Given the description of an element on the screen output the (x, y) to click on. 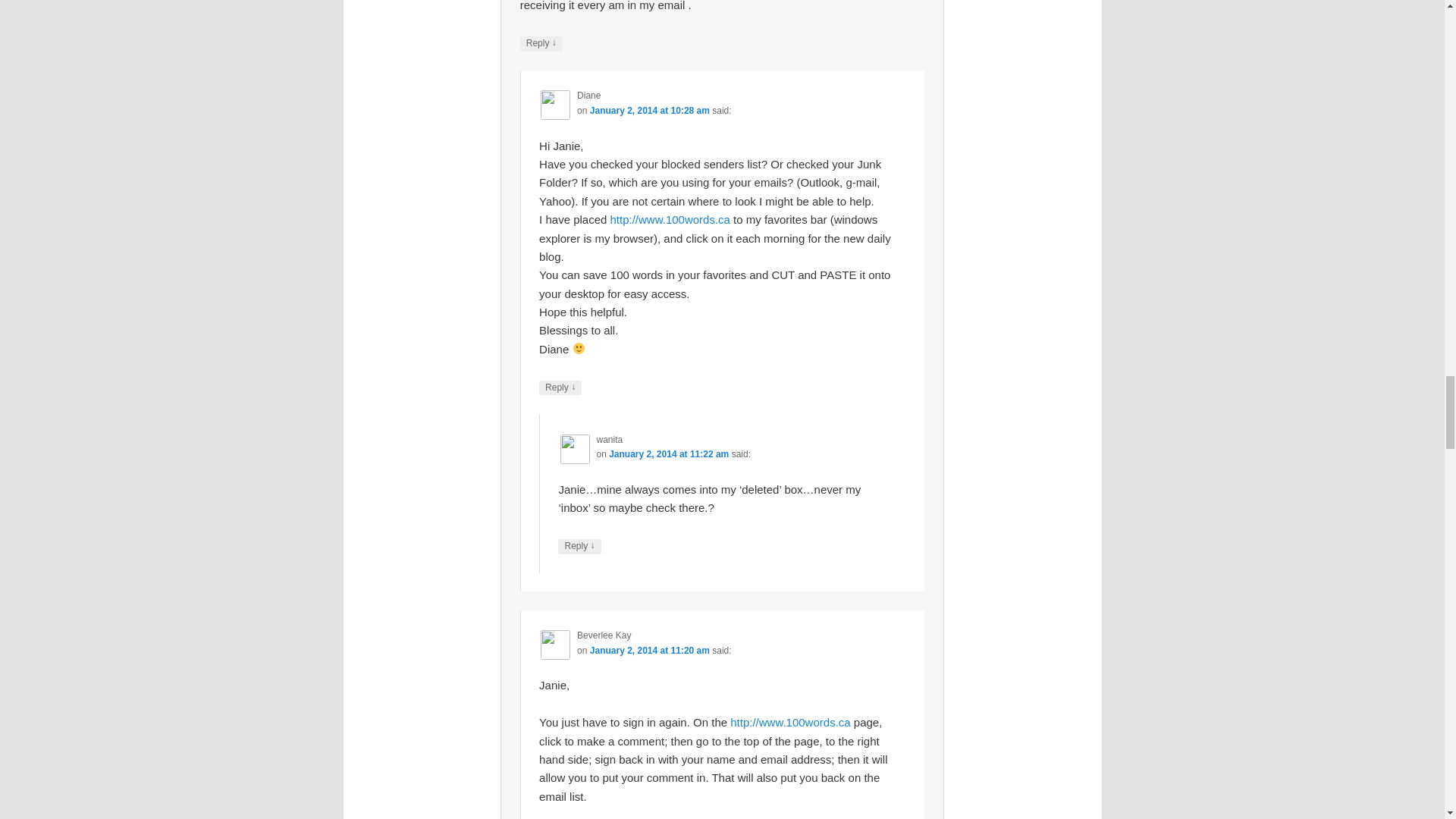
January 2, 2014 at 10:28 am (649, 110)
January 2, 2014 at 11:22 am (668, 453)
January 2, 2014 at 11:20 am (649, 650)
